Given the description of an element on the screen output the (x, y) to click on. 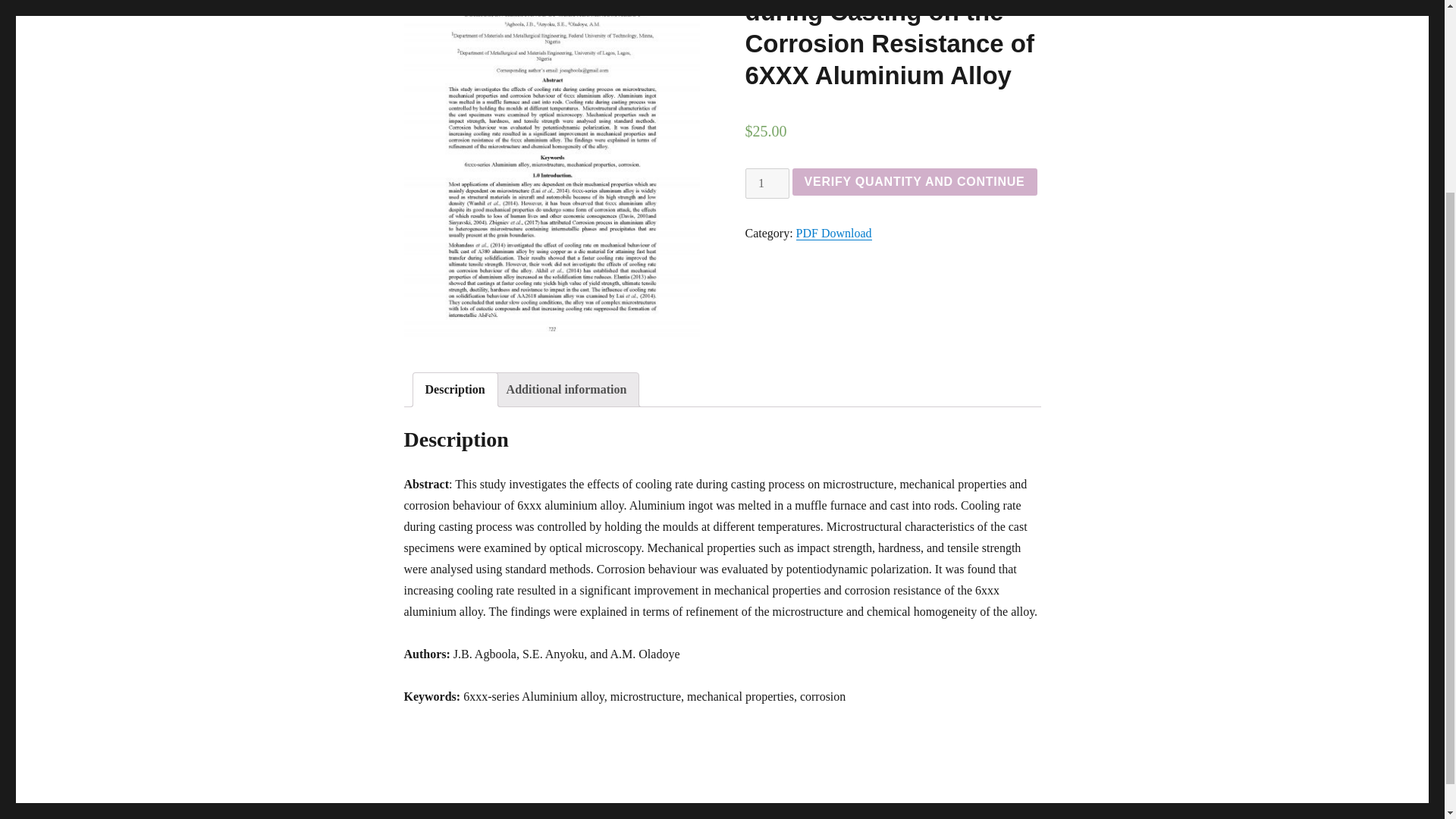
PDF Download (834, 232)
Description (454, 389)
VERIFY QUANTITY AND CONTINUE (914, 181)
Additional information (566, 389)
1 (766, 183)
Qty (766, 183)
